Given the description of an element on the screen output the (x, y) to click on. 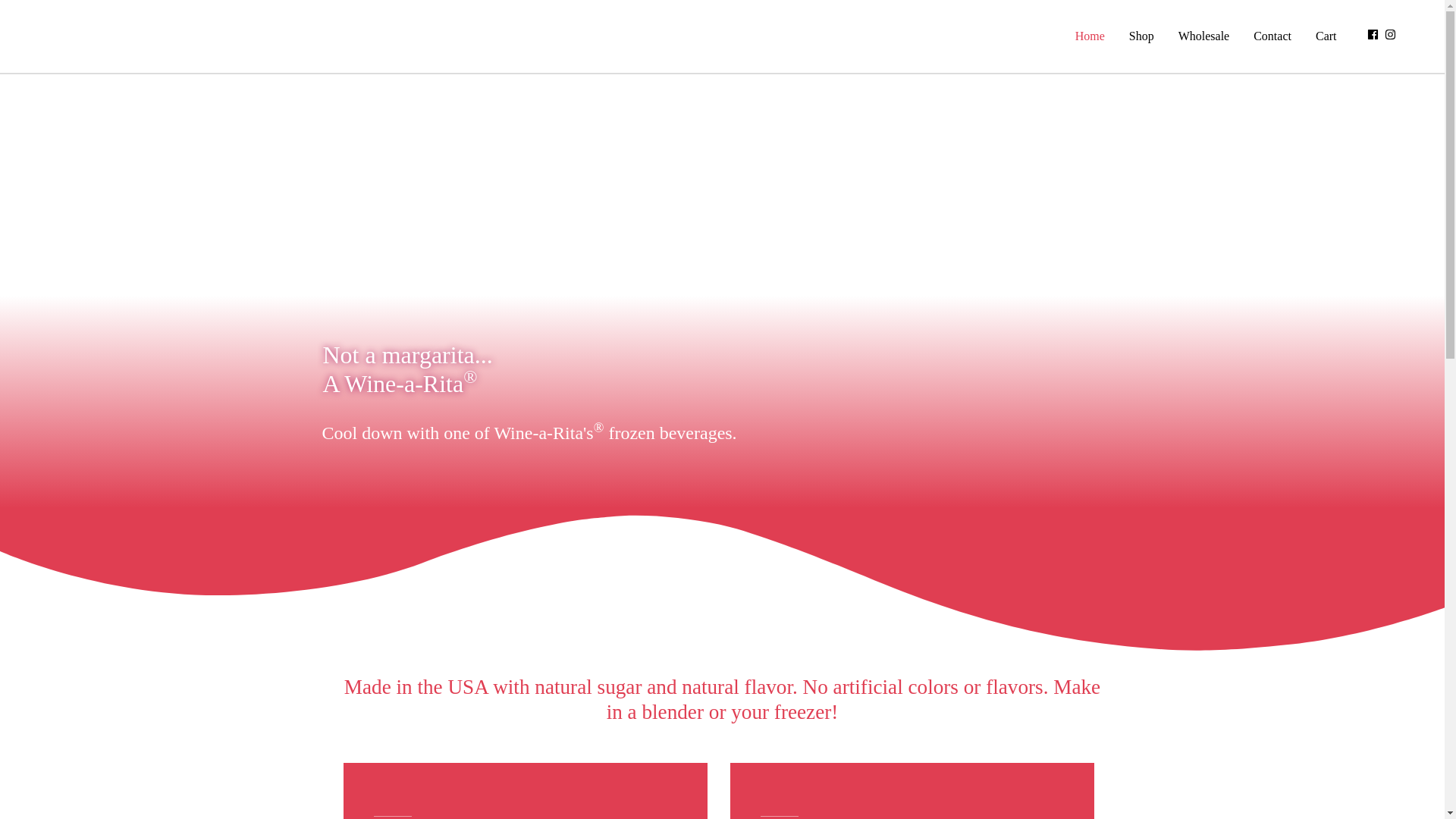
Cart (1326, 36)
Shop (1141, 36)
Wholesale (1203, 36)
Home (1089, 36)
Contact (1272, 36)
